Given the description of an element on the screen output the (x, y) to click on. 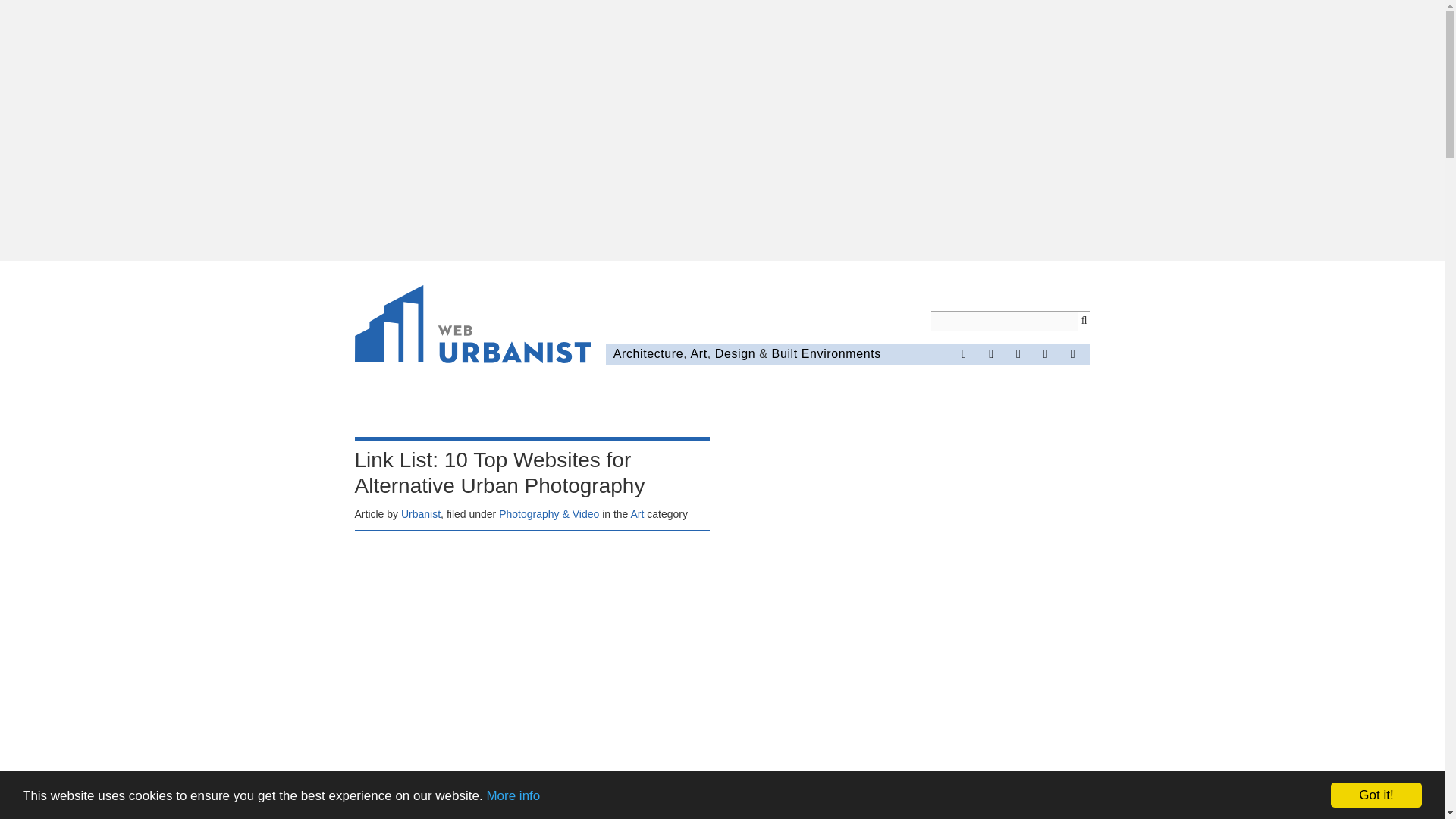
Subscribe to the RSS Feed! (1045, 353)
Art (698, 353)
WebUrbanist (473, 326)
Art (637, 513)
Architecture (648, 353)
Check Out Posts on Pinterest! (1018, 353)
Advertisement (532, 653)
Built (784, 353)
Environments (841, 353)
Subscribe by Email (1072, 353)
Become a Fan on Facebook! (963, 353)
Urbanist (421, 513)
Follow Us on Twitter! (990, 353)
Design (734, 353)
